Given the description of an element on the screen output the (x, y) to click on. 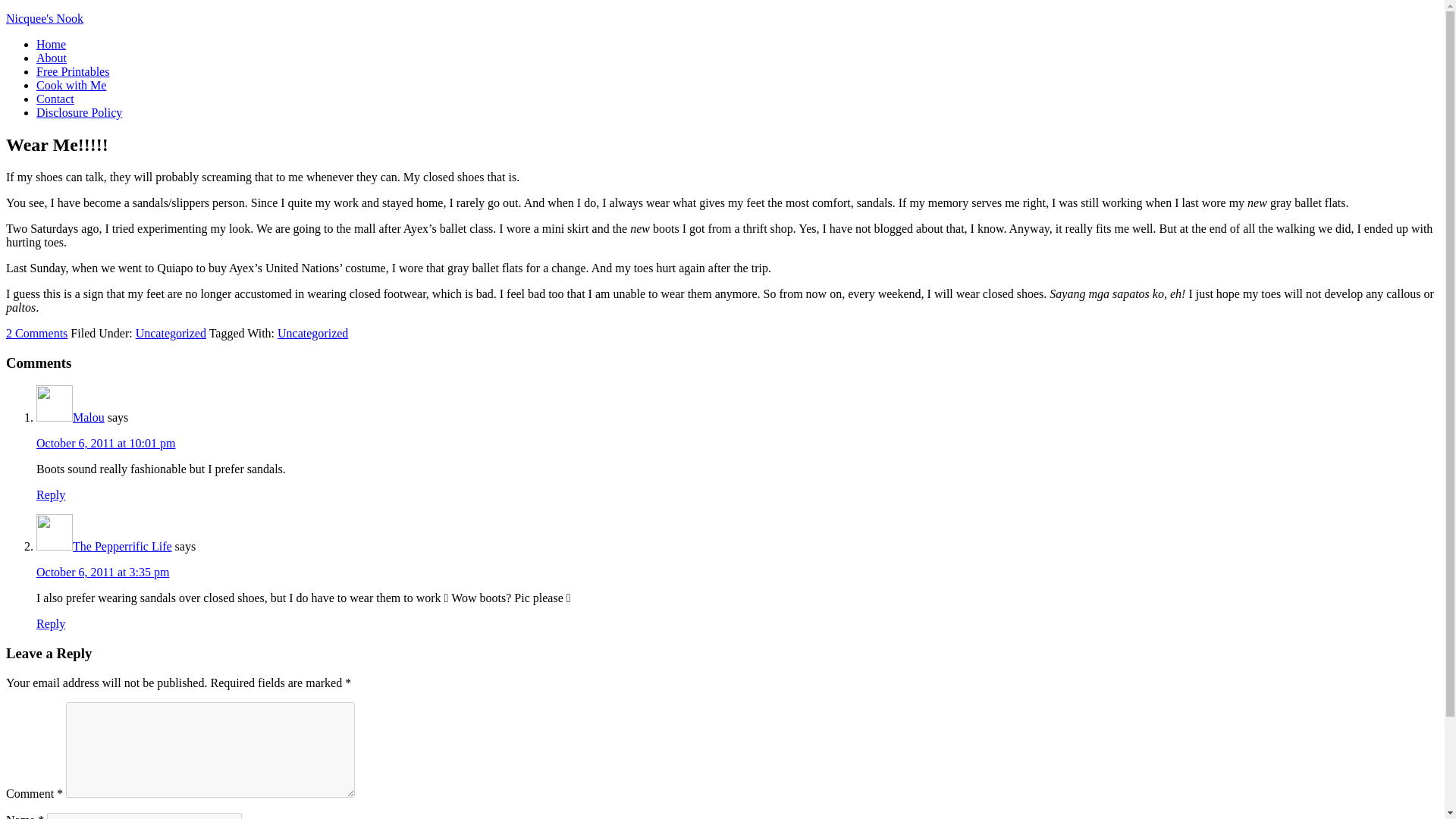
Reply (50, 494)
Cook with Me (71, 84)
Uncategorized (312, 332)
2 Comments (35, 332)
Malou (88, 417)
The Pepperrific Life (121, 545)
Uncategorized (170, 332)
October 6, 2011 at 10:01 pm (105, 442)
Free Printables (72, 71)
Contact (55, 98)
